Given the description of an element on the screen output the (x, y) to click on. 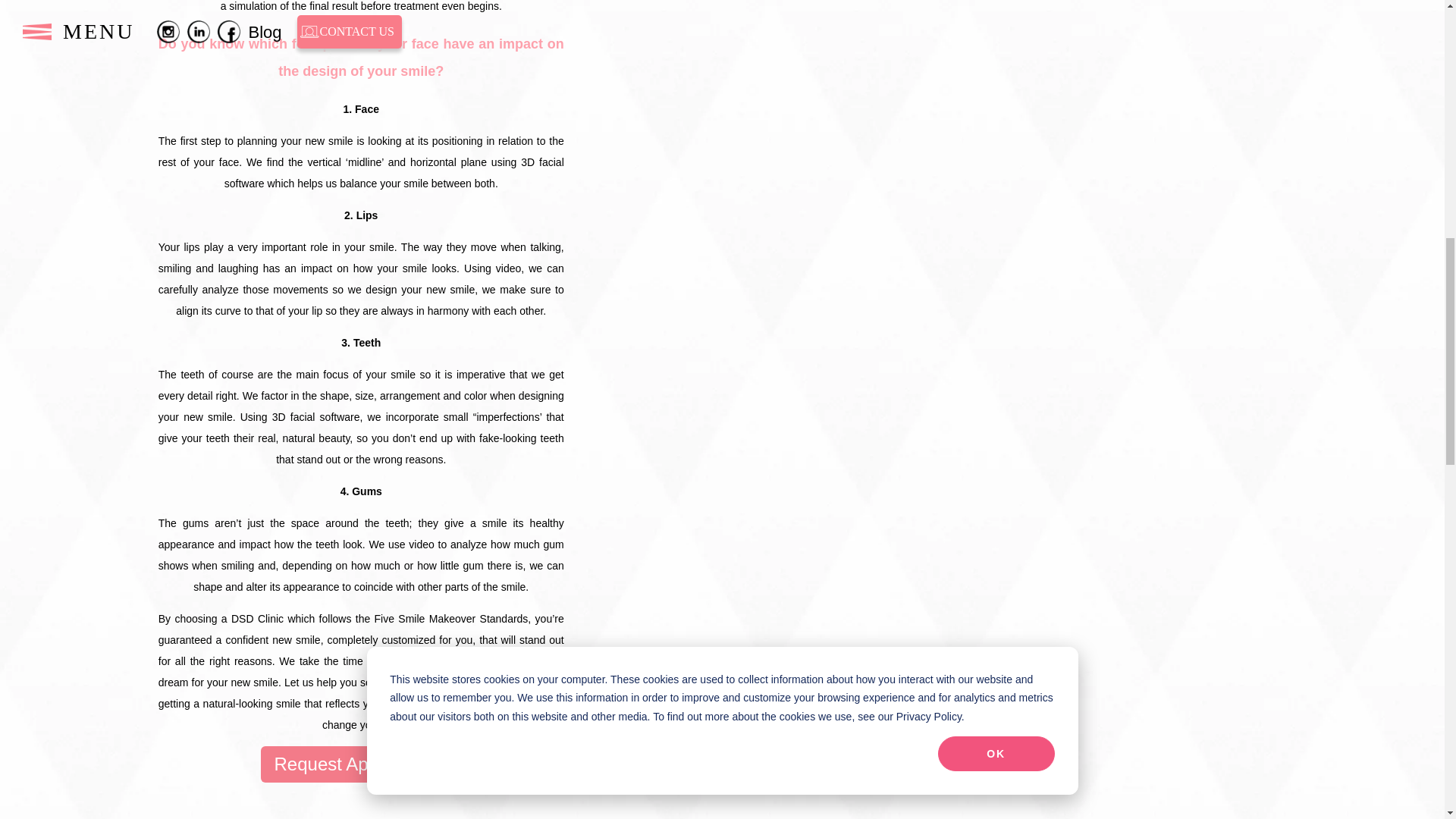
Request Appointment (361, 764)
